Given the description of an element on the screen output the (x, y) to click on. 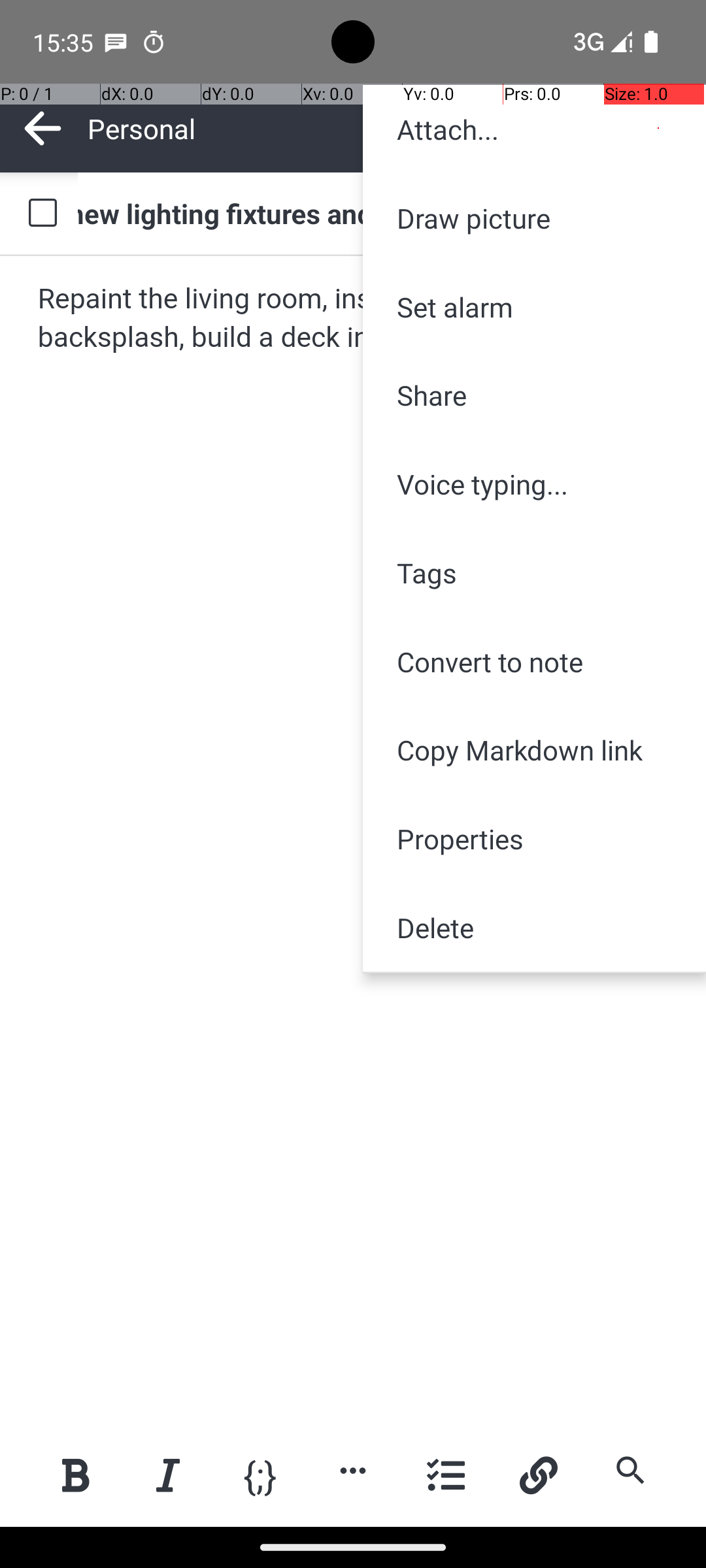
Home Improvement ProjRenovate the bathroom and add newInstall new lighting fixtures and paint the kitchen walls shelves in the garageects Element type: android.widget.EditText (378, 213)
Set alarm Element type: android.widget.TextView (534, 306)
Convert to note Element type: android.widget.TextView (534, 661)
Repaint the living room, install new kitchen backsplash, build a deck in the backyard Element type: android.widget.EditText (354, 318)
